Given the description of an element on the screen output the (x, y) to click on. 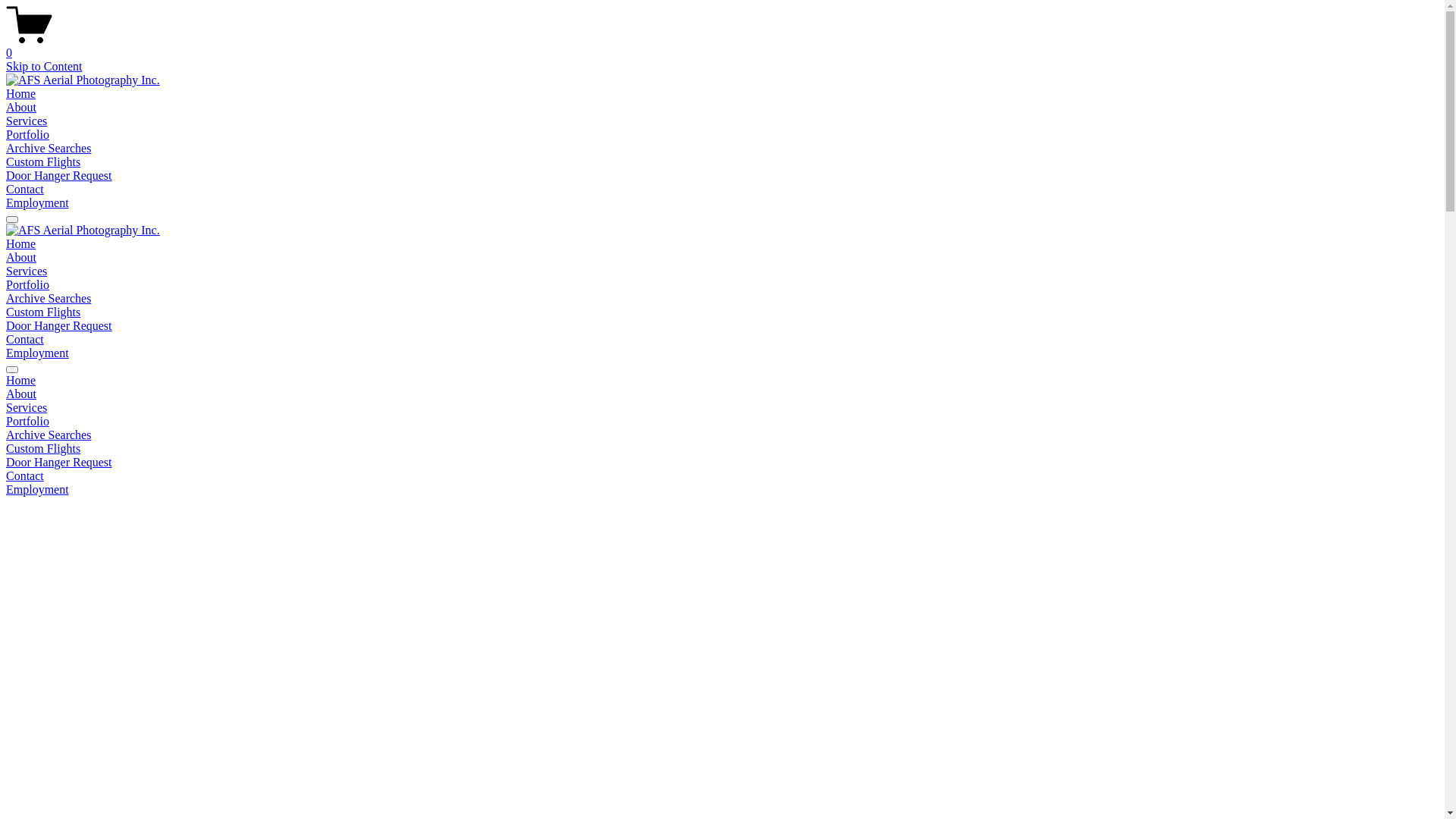
Archive Searches Element type: text (48, 147)
About Element type: text (21, 257)
Services Element type: text (26, 120)
Door Hanger Request Element type: text (722, 462)
Skip to Content Element type: text (43, 65)
Portfolio Element type: text (27, 134)
Archive Searches Element type: text (722, 435)
About Element type: text (21, 106)
Custom Flights Element type: text (43, 161)
Archive Searches Element type: text (48, 297)
Contact Element type: text (24, 338)
Services Element type: text (26, 270)
Home Element type: text (20, 243)
About Element type: text (722, 394)
Door Hanger Request Element type: text (59, 175)
Employment Element type: text (37, 202)
Portfolio Element type: text (722, 421)
Door Hanger Request Element type: text (59, 325)
Services Element type: text (722, 407)
Contact Element type: text (24, 188)
Home Element type: text (20, 379)
Employment Element type: text (722, 489)
Employment Element type: text (37, 352)
Contact Element type: text (722, 476)
Custom Flights Element type: text (722, 448)
Portfolio Element type: text (27, 284)
0 Element type: text (722, 45)
Custom Flights Element type: text (43, 311)
Home Element type: text (20, 93)
